Given the description of an element on the screen output the (x, y) to click on. 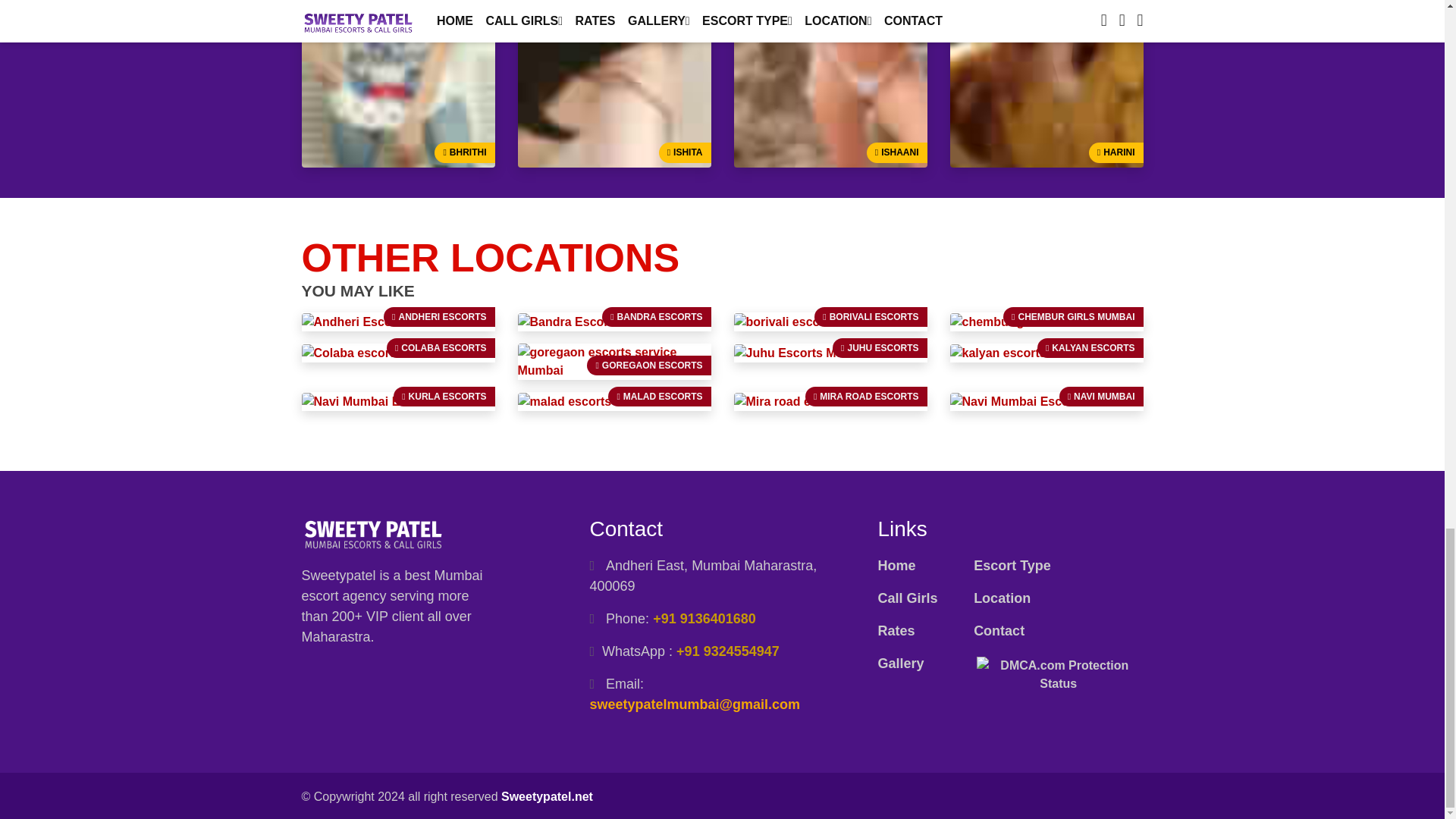
Home (896, 565)
DMCA.com Protection Status (1058, 673)
